Given the description of an element on the screen output the (x, y) to click on. 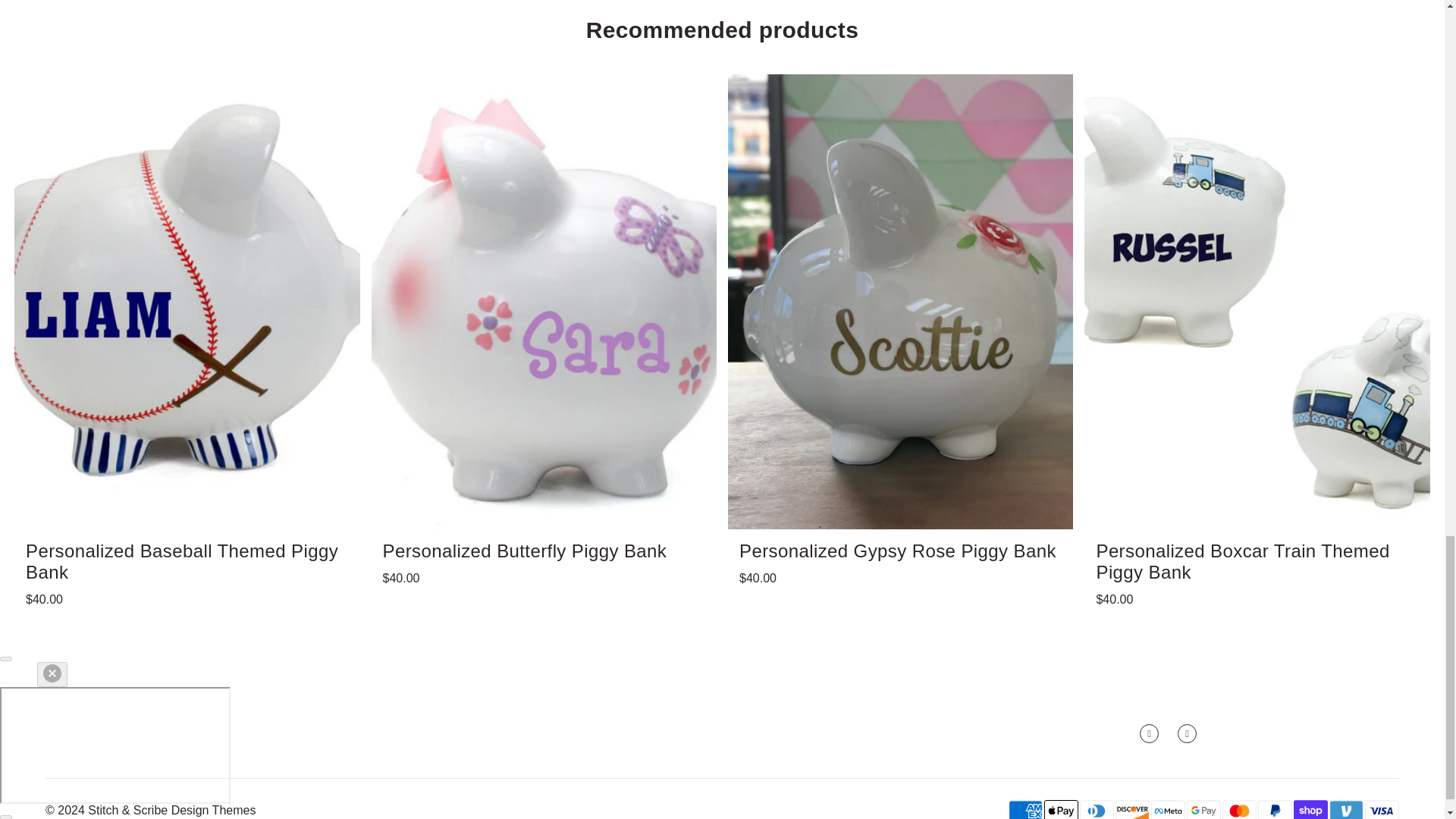
Venmo (1345, 806)
Instagram (1186, 732)
Apple Pay (1060, 806)
PayPal (1274, 806)
Linkedin (1149, 732)
Mastercard (1239, 806)
Google Pay (1203, 806)
Visa (1382, 806)
Shop Pay (1310, 806)
Discover (1132, 806)
Diners Club (1096, 806)
Meta Pay (1168, 806)
American Express (1025, 806)
